Given the description of an element on the screen output the (x, y) to click on. 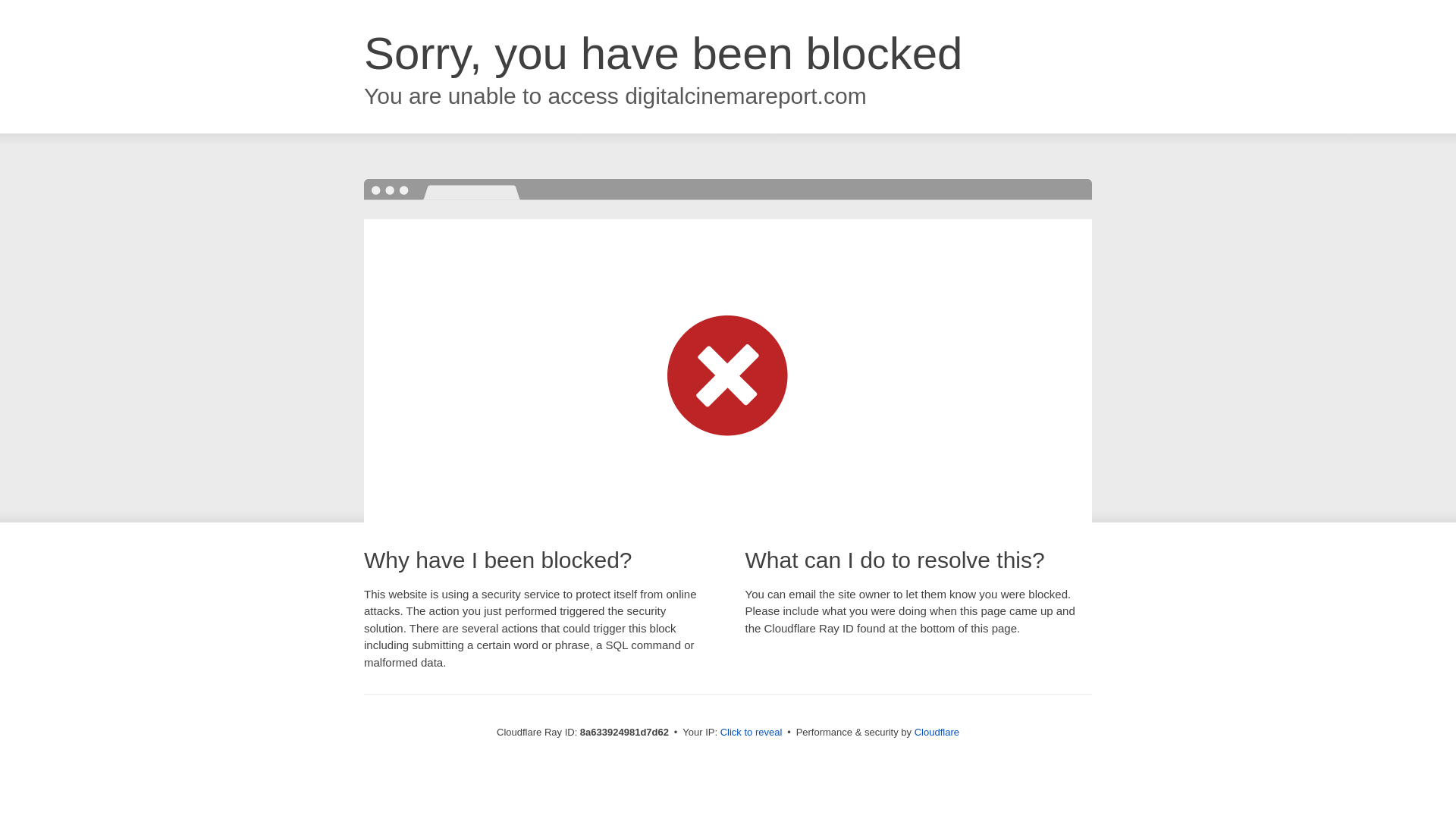
Cloudflare (936, 731)
Click to reveal (751, 732)
